Given the description of an element on the screen output the (x, y) to click on. 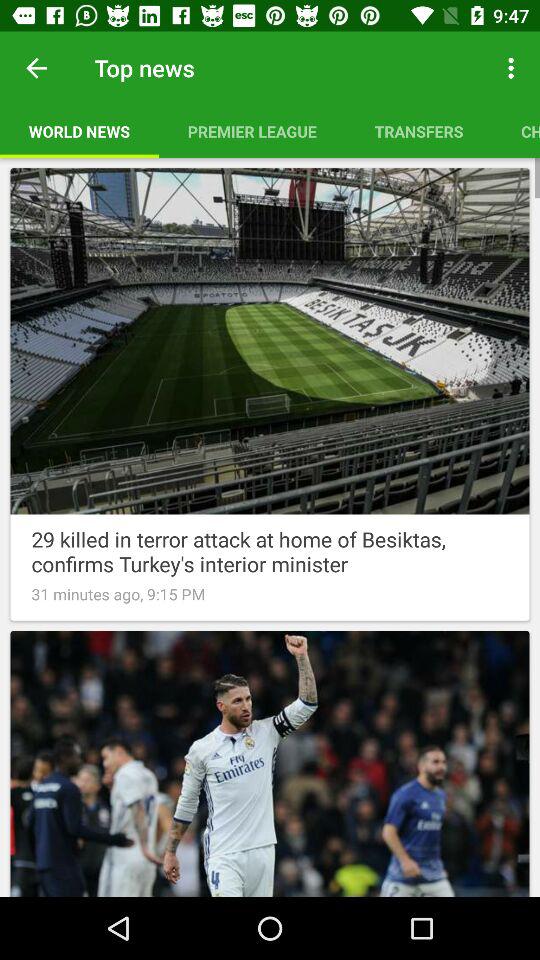
turn on icon next to premier league item (418, 131)
